Given the description of an element on the screen output the (x, y) to click on. 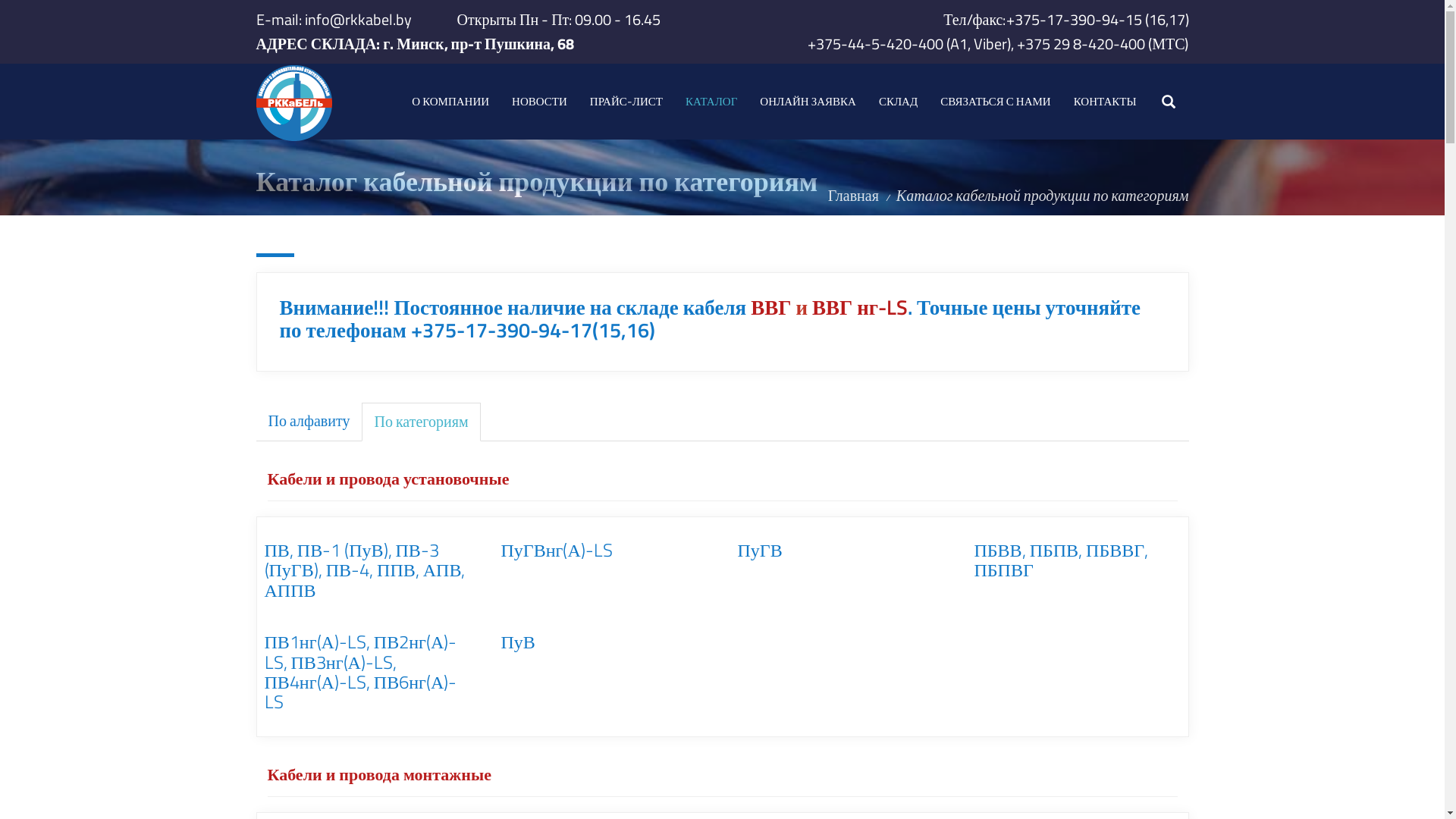
info@rkkabel.by Element type: text (357, 19)
<span class="icon glyphicon glyphicon-search"></span> Element type: text (1168, 103)
+375-17-390-94-15 (16,17) Element type: text (1096, 19)
+375-44-5-420-400 (A1, Viber) Element type: text (908, 43)
+375-17-390-94-17(15,16) Element type: text (533, 329)
